Given the description of an element on the screen output the (x, y) to click on. 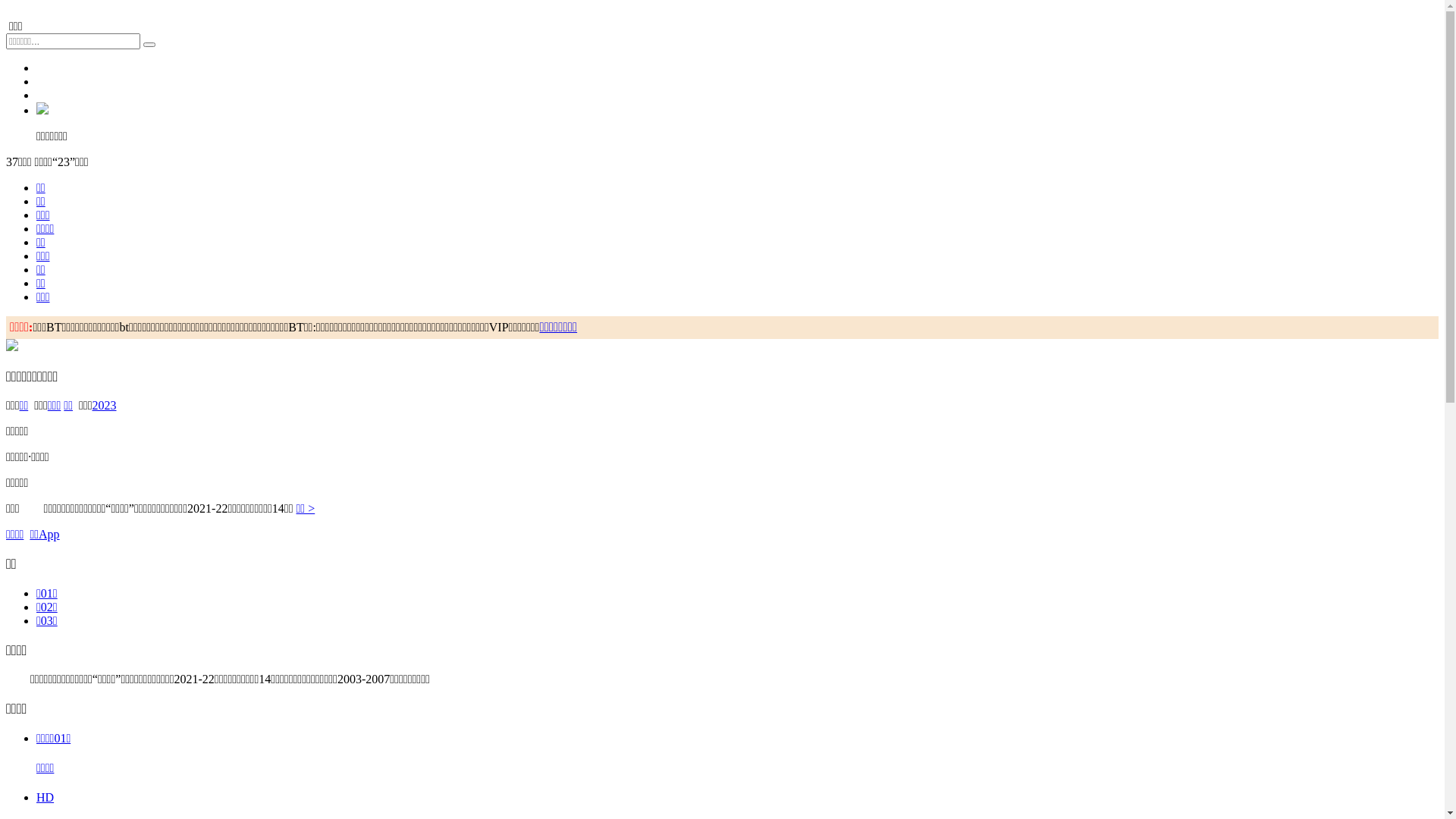
2023 Element type: text (104, 404)
HD Element type: text (44, 796)
